Given the description of an element on the screen output the (x, y) to click on. 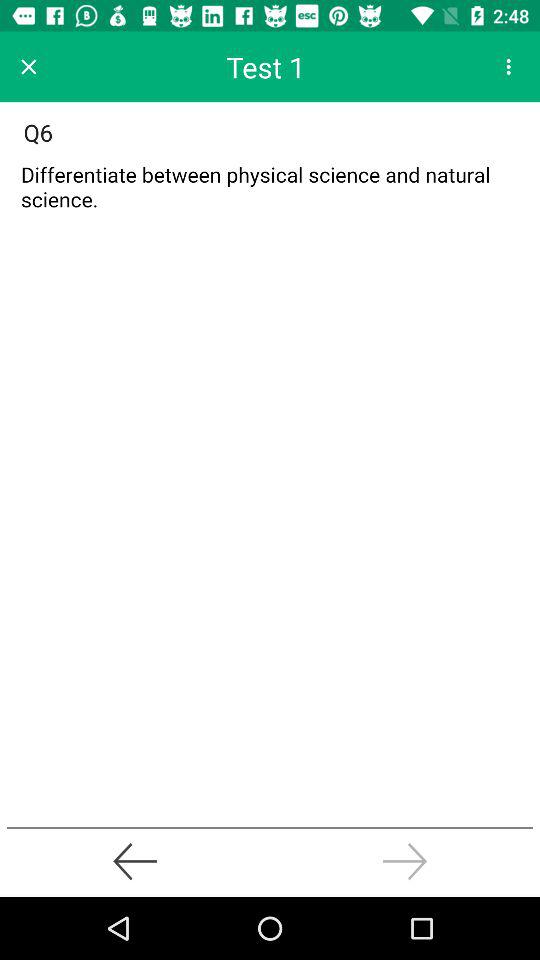
for back (135, 861)
